Given the description of an element on the screen output the (x, y) to click on. 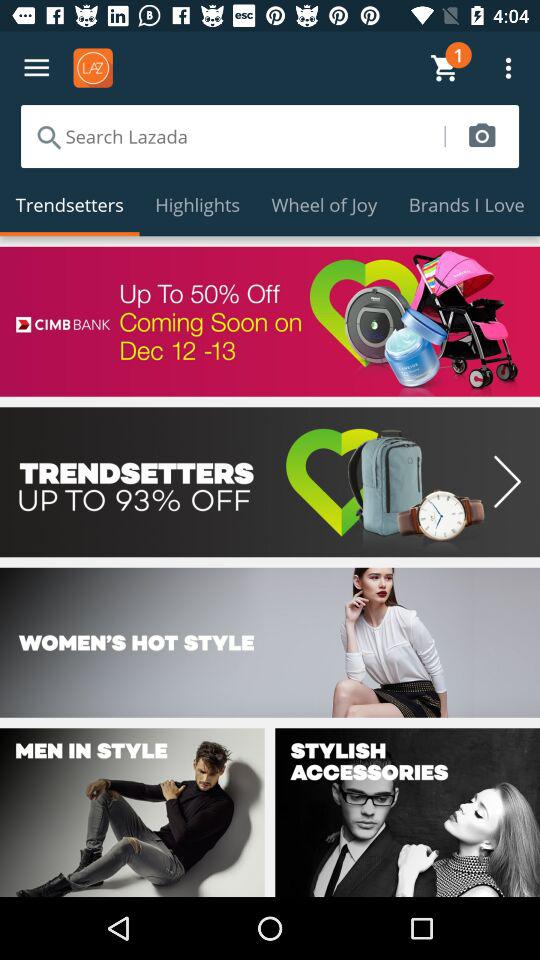
go to menu (36, 68)
